Given the description of an element on the screen output the (x, y) to click on. 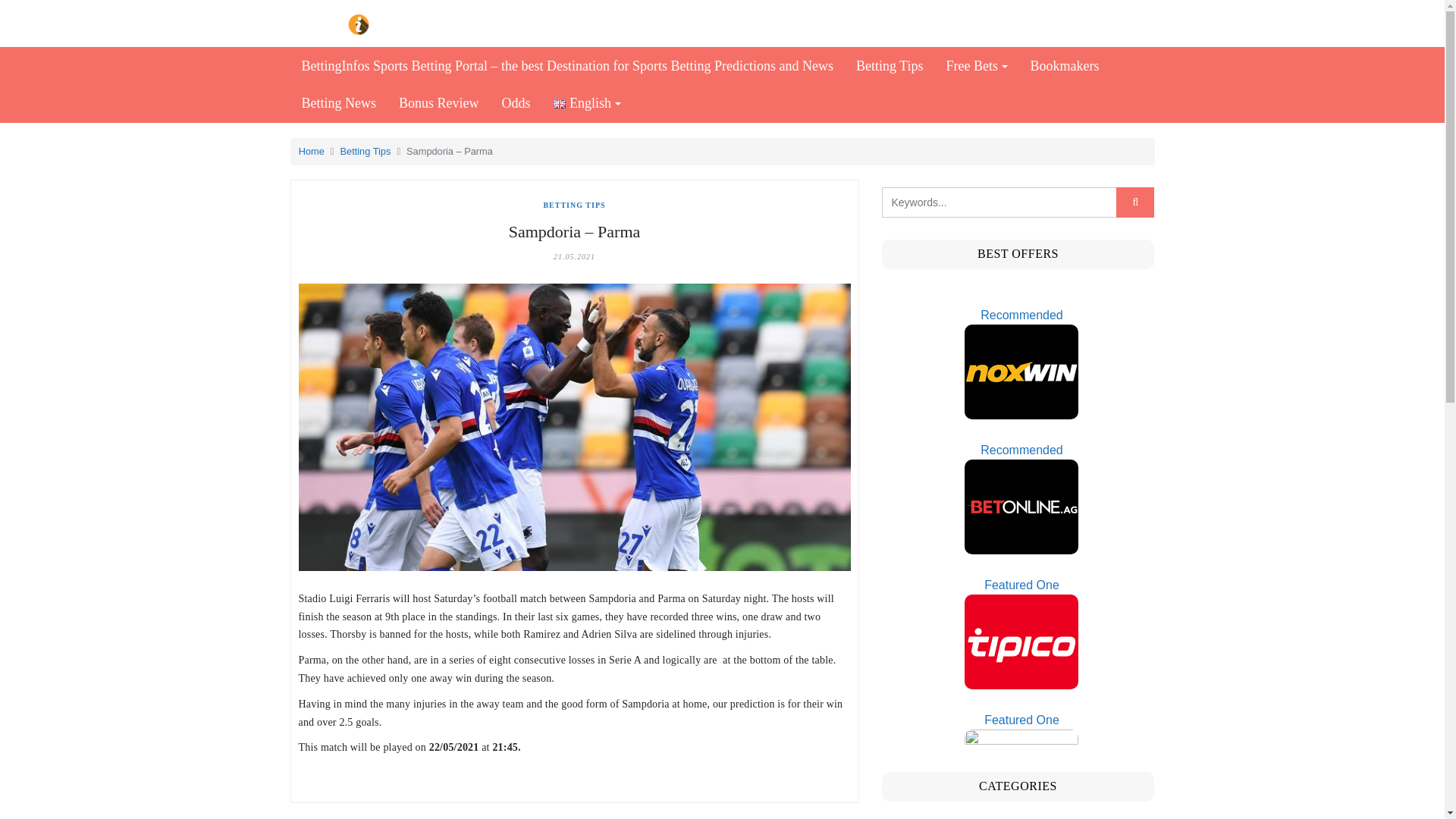
Bonus Review (438, 103)
English (586, 103)
Featured One (1021, 632)
Odds (515, 103)
Free Bets (975, 66)
Betting News (338, 103)
Recommended (1021, 362)
Recommended (1021, 497)
Betting Tips (889, 66)
